Given the description of an element on the screen output the (x, y) to click on. 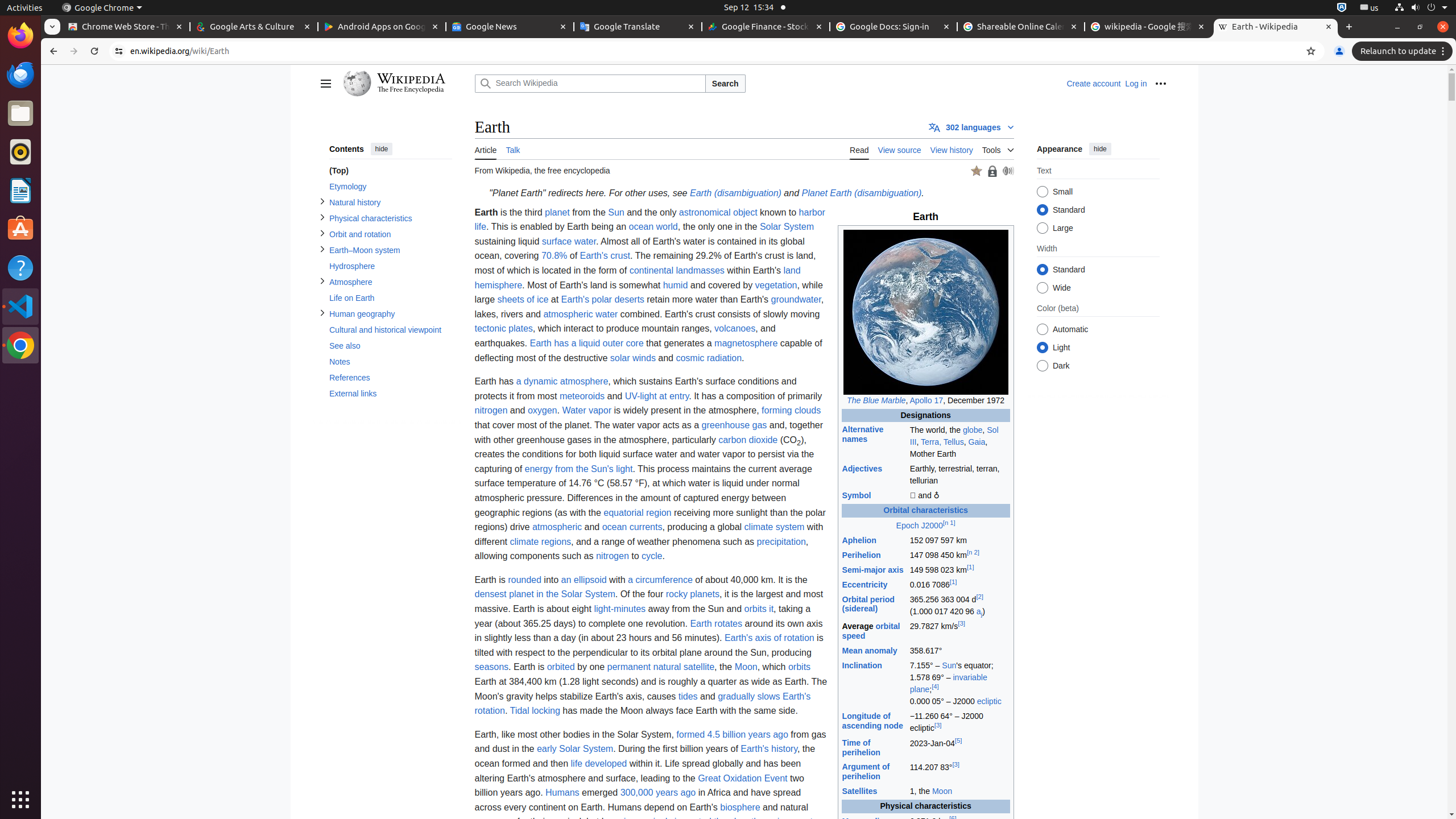
Satellites Element type: link (859, 791)
70.8% Element type: link (553, 255)
astronomical object Element type: link (717, 212)
ocean currents Element type: link (631, 527)
Search Element type: push-button (724, 83)
